Given the description of an element on the screen output the (x, y) to click on. 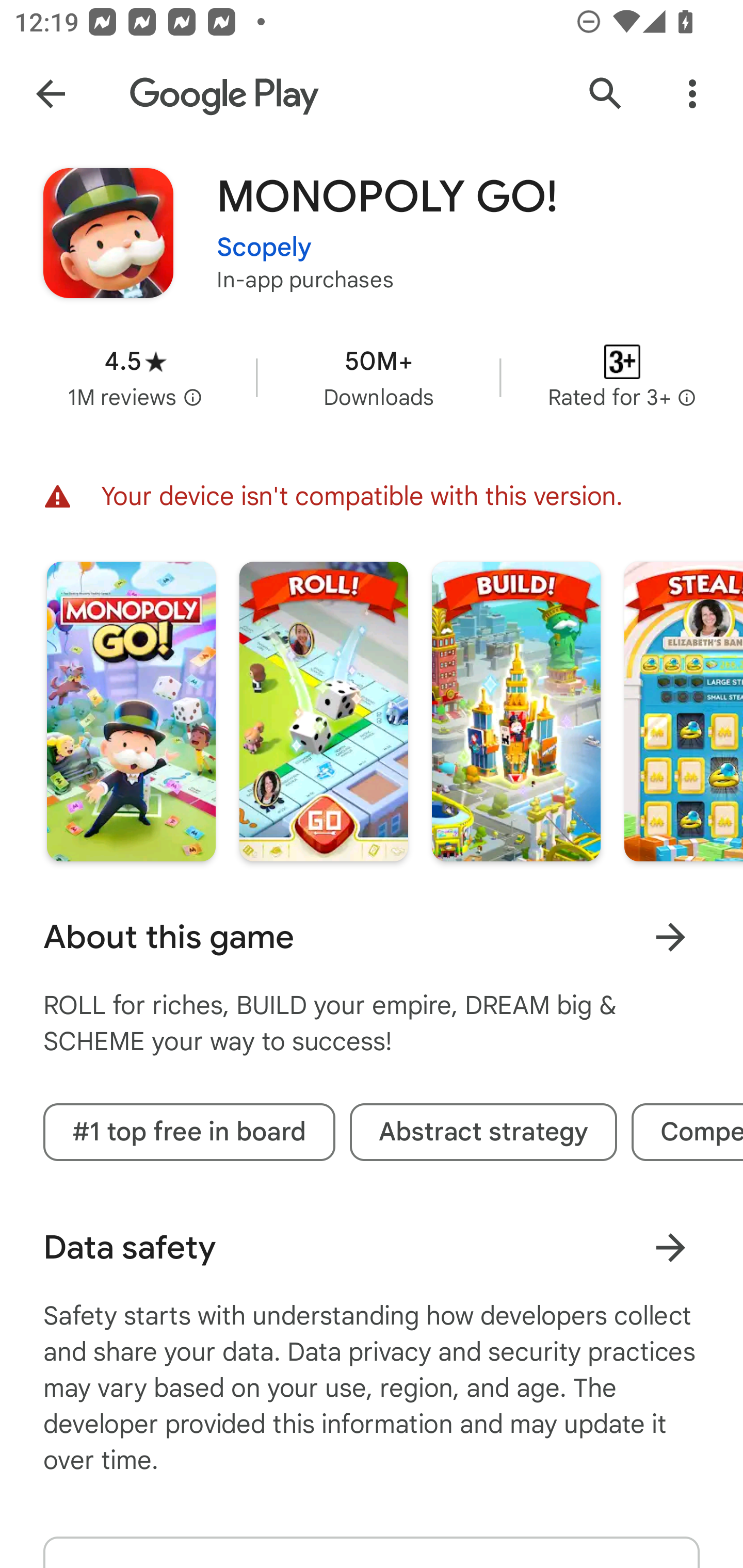
Navigate up (50, 93)
Search Google Play (605, 93)
More Options (692, 93)
Scopely (263, 233)
Average rating 4.5 stars in 1 million reviews (135, 377)
Content rating Rated for 3+ (622, 377)
Screenshot "1" of "8" (130, 710)
Screenshot "2" of "8" (323, 710)
Screenshot "3" of "8" (515, 710)
Screenshot "4" of "8" (683, 710)
About this game Learn more About this game (371, 936)
Learn more About this game (670, 936)
#1 top free in board tag (189, 1132)
Abstract strategy tag (483, 1132)
Data safety Learn more about data safety (371, 1247)
Learn more about data safety (670, 1247)
